Given the description of an element on the screen output the (x, y) to click on. 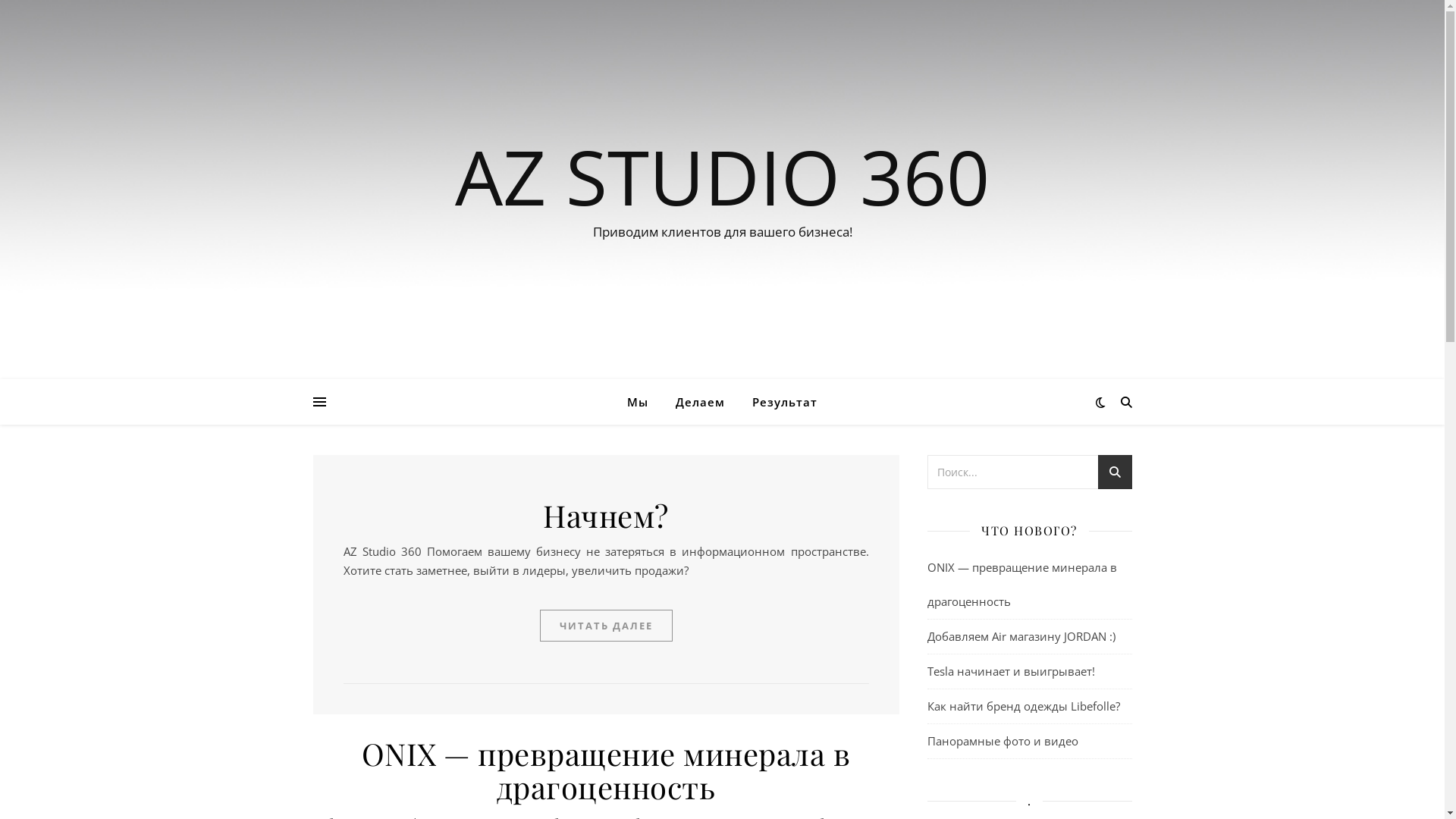
AZ STUDIO 360 Element type: text (722, 175)
st Element type: text (1114, 474)
